Given the description of an element on the screen output the (x, y) to click on. 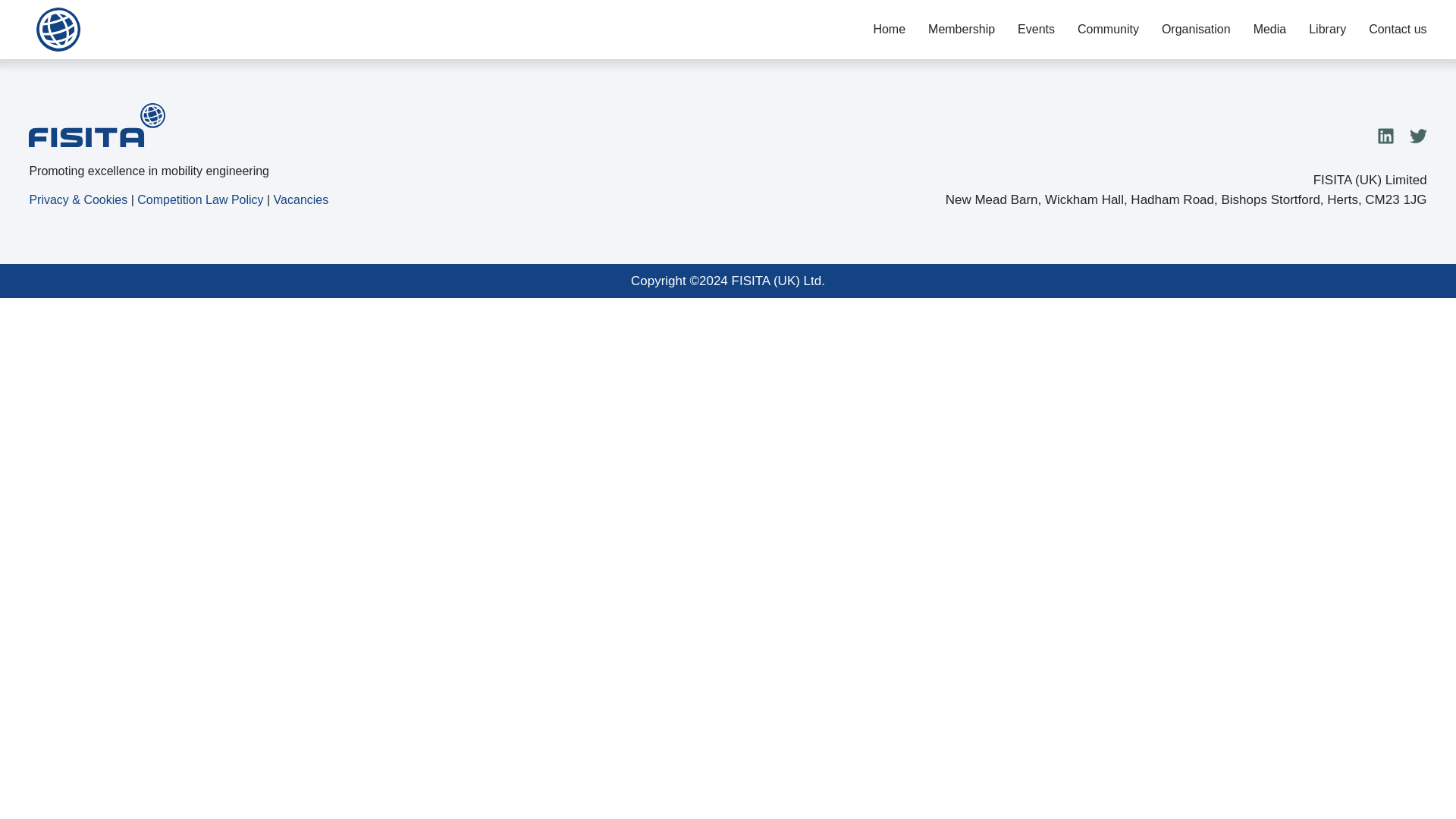
Events (1035, 29)
Community (1107, 29)
Organisation (1195, 29)
Contact us (1397, 29)
Media (1270, 29)
Membership (961, 29)
Home (888, 29)
Library (1326, 29)
